Given the description of an element on the screen output the (x, y) to click on. 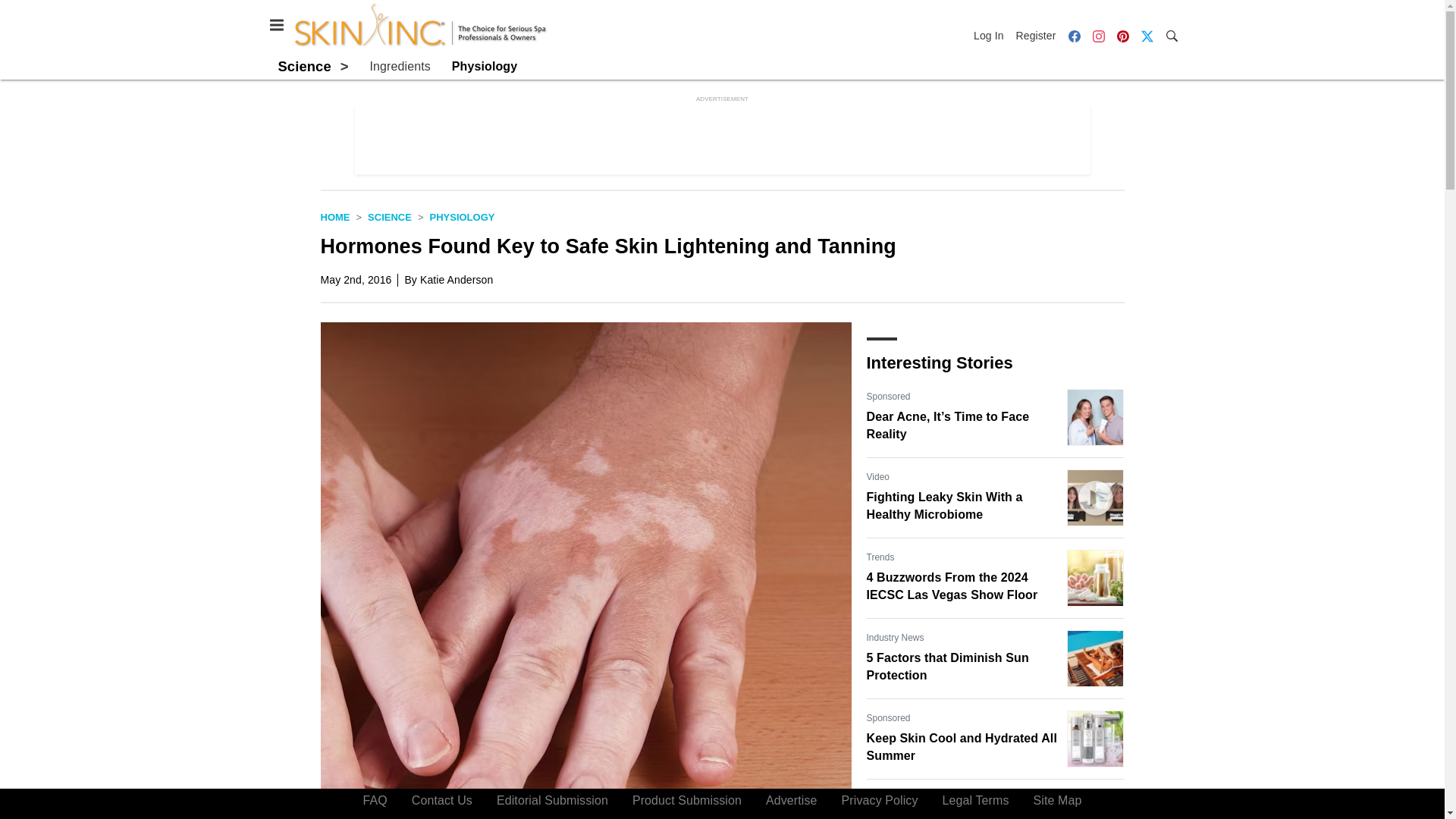
Register (1036, 35)
Twitter X icon (1146, 36)
Physiology (462, 216)
Facebook icon (1073, 35)
Science (390, 216)
Instagram icon (1097, 35)
SCIENCE (390, 216)
HOME (334, 216)
Pinterest icon (1121, 35)
Sponsored (888, 717)
Physiology (483, 66)
Log In (992, 35)
Pinterest icon (1122, 36)
Instagram icon (1097, 36)
Ingredients (399, 66)
